Given the description of an element on the screen output the (x, y) to click on. 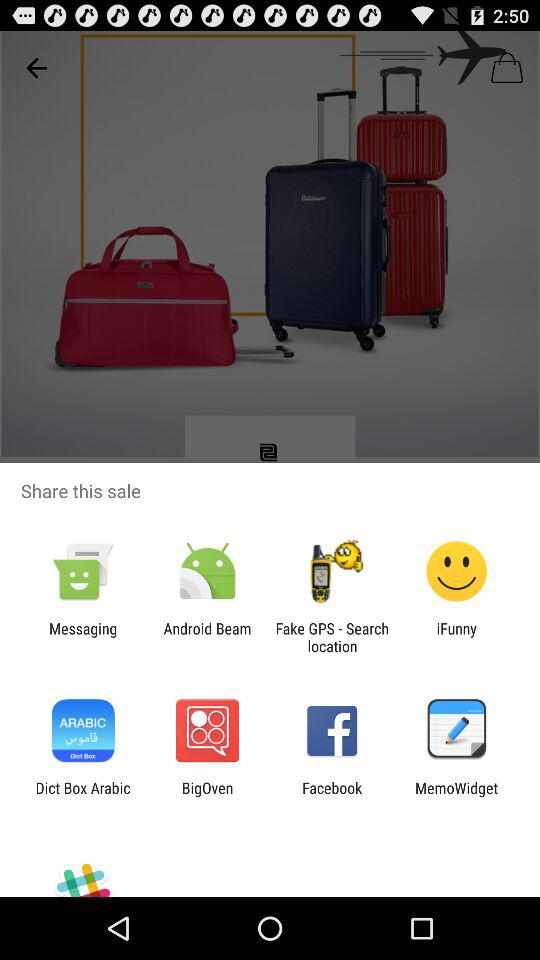
press the icon to the left of facebook icon (207, 796)
